Given the description of an element on the screen output the (x, y) to click on. 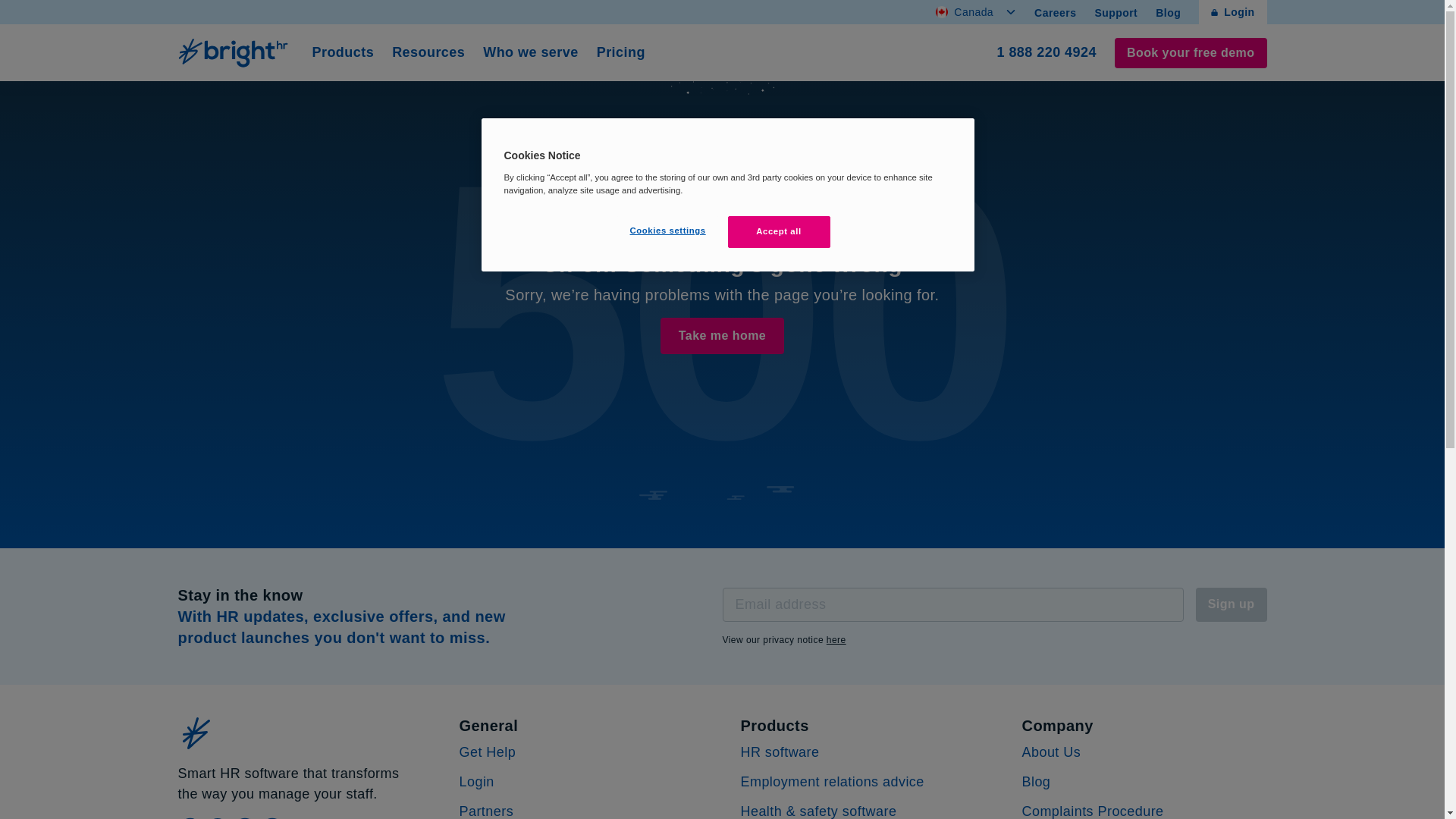
Partners (486, 811)
Take me home (722, 335)
1 888 220 4924 (1045, 52)
Employment relations advice (831, 781)
Pricing (620, 52)
HR software (778, 752)
BrightHR logo (235, 51)
About Us (1051, 752)
Twitter (218, 817)
Blog (1168, 11)
Login (1232, 12)
Complaints Procedure (1092, 811)
Get Help (488, 752)
Book your free demo (1190, 52)
